Given the description of an element on the screen output the (x, y) to click on. 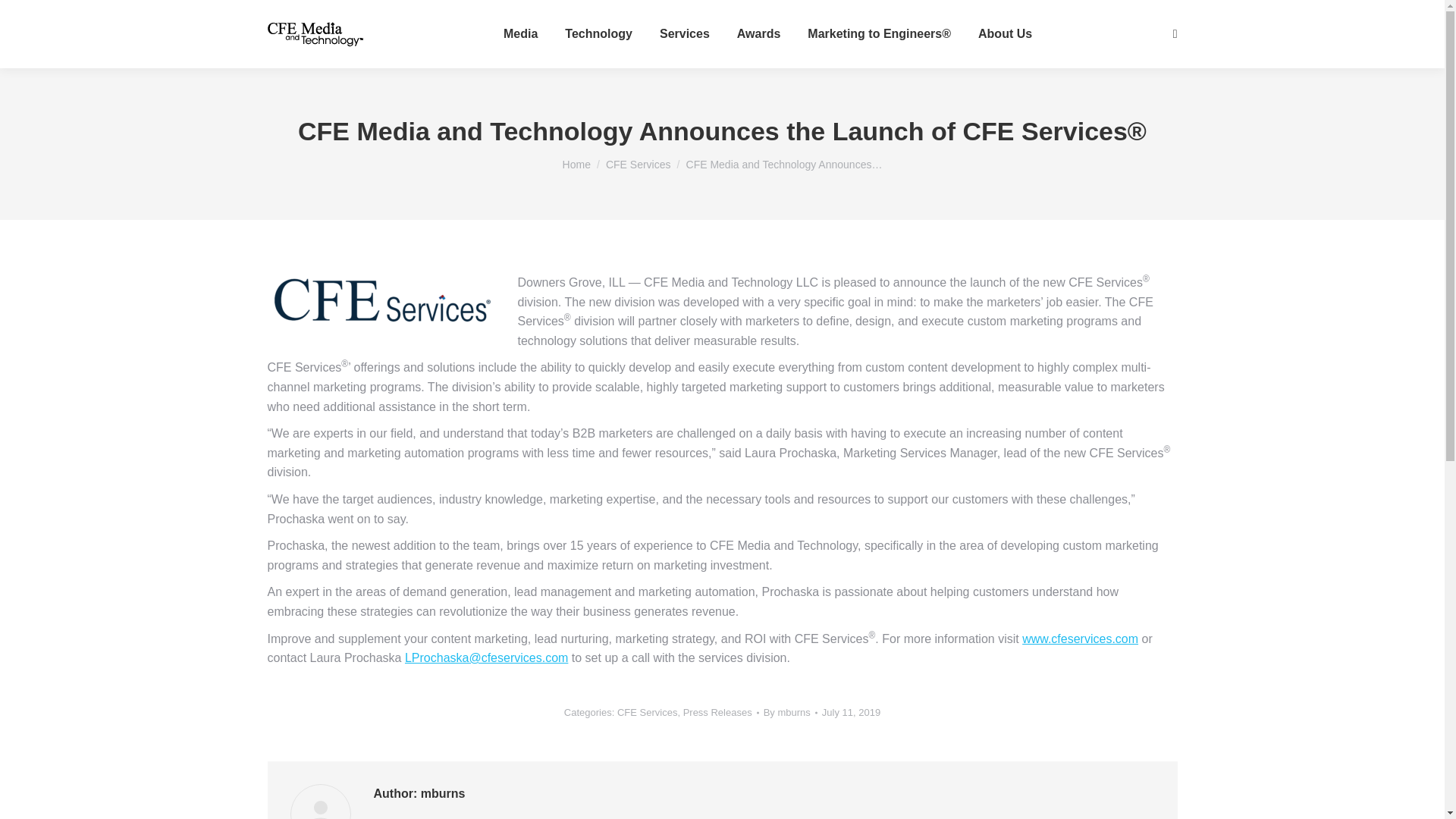
Home (576, 164)
Awards (758, 33)
Services (684, 33)
Technology (598, 33)
Media (520, 33)
10:16 pm (851, 712)
View all posts by mburns (789, 712)
CFE Services (638, 164)
